Given the description of an element on the screen output the (x, y) to click on. 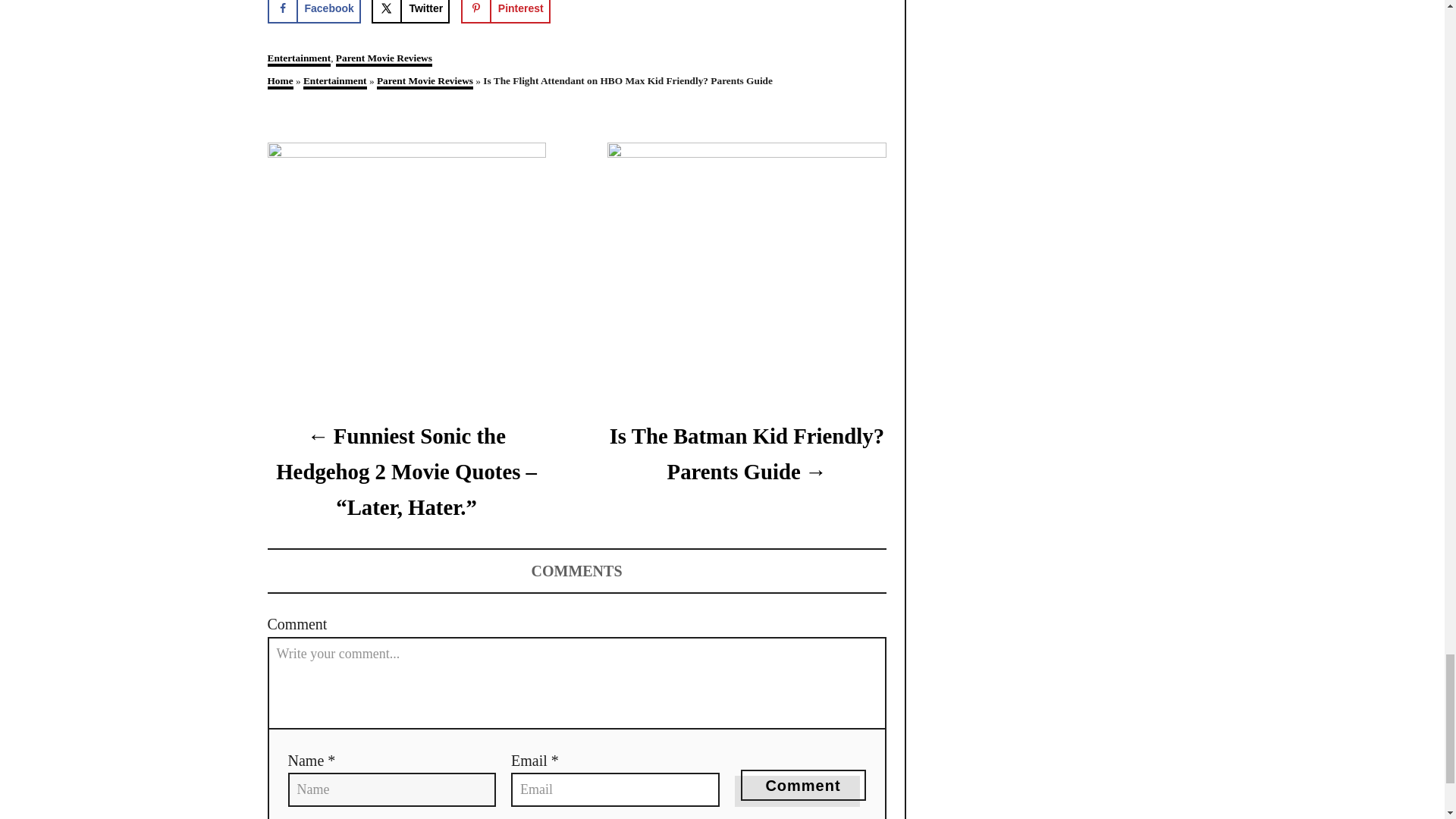
Twitter (410, 11)
Share on Facebook (312, 11)
Parent Movie Reviews (384, 59)
Facebook (312, 11)
Pinterest (505, 11)
Entertainment (334, 82)
Home (279, 82)
Entertainment (298, 59)
Share on X (410, 11)
Save to Pinterest (505, 11)
